Given the description of an element on the screen output the (x, y) to click on. 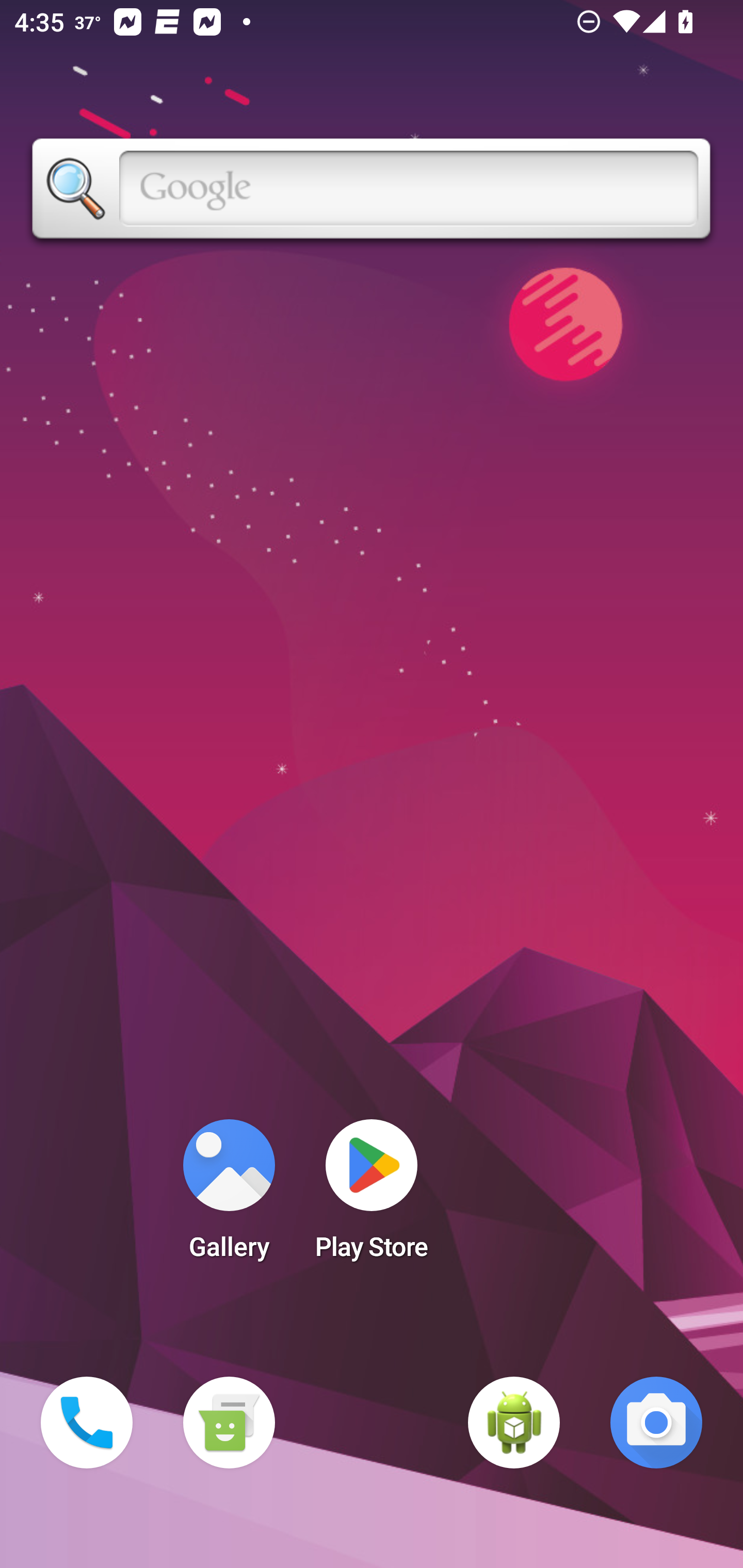
Gallery (228, 1195)
Play Store (371, 1195)
Phone (86, 1422)
Messaging (228, 1422)
WebView Browser Tester (513, 1422)
Camera (656, 1422)
